Given the description of an element on the screen output the (x, y) to click on. 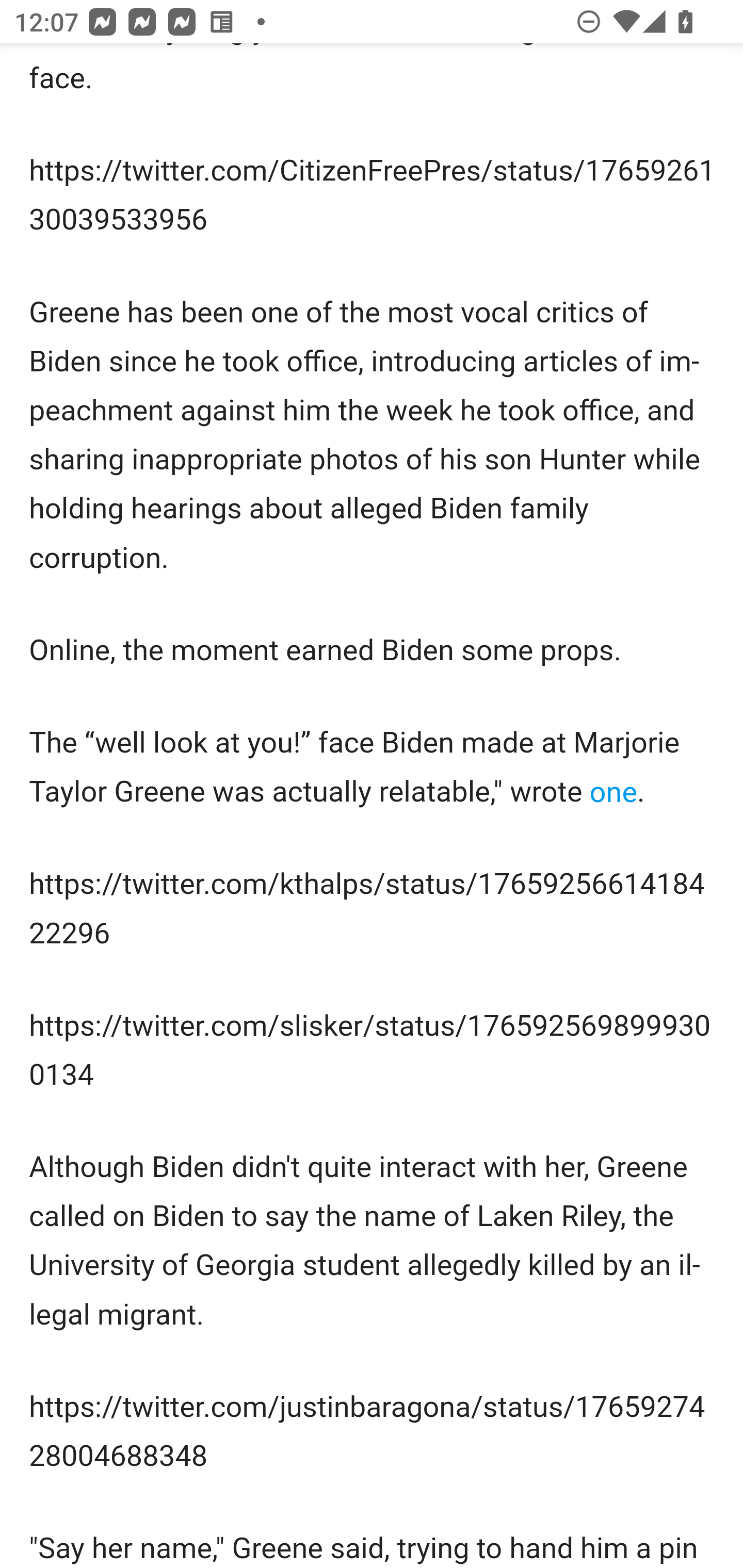
one (613, 791)
